Given the description of an element on the screen output the (x, y) to click on. 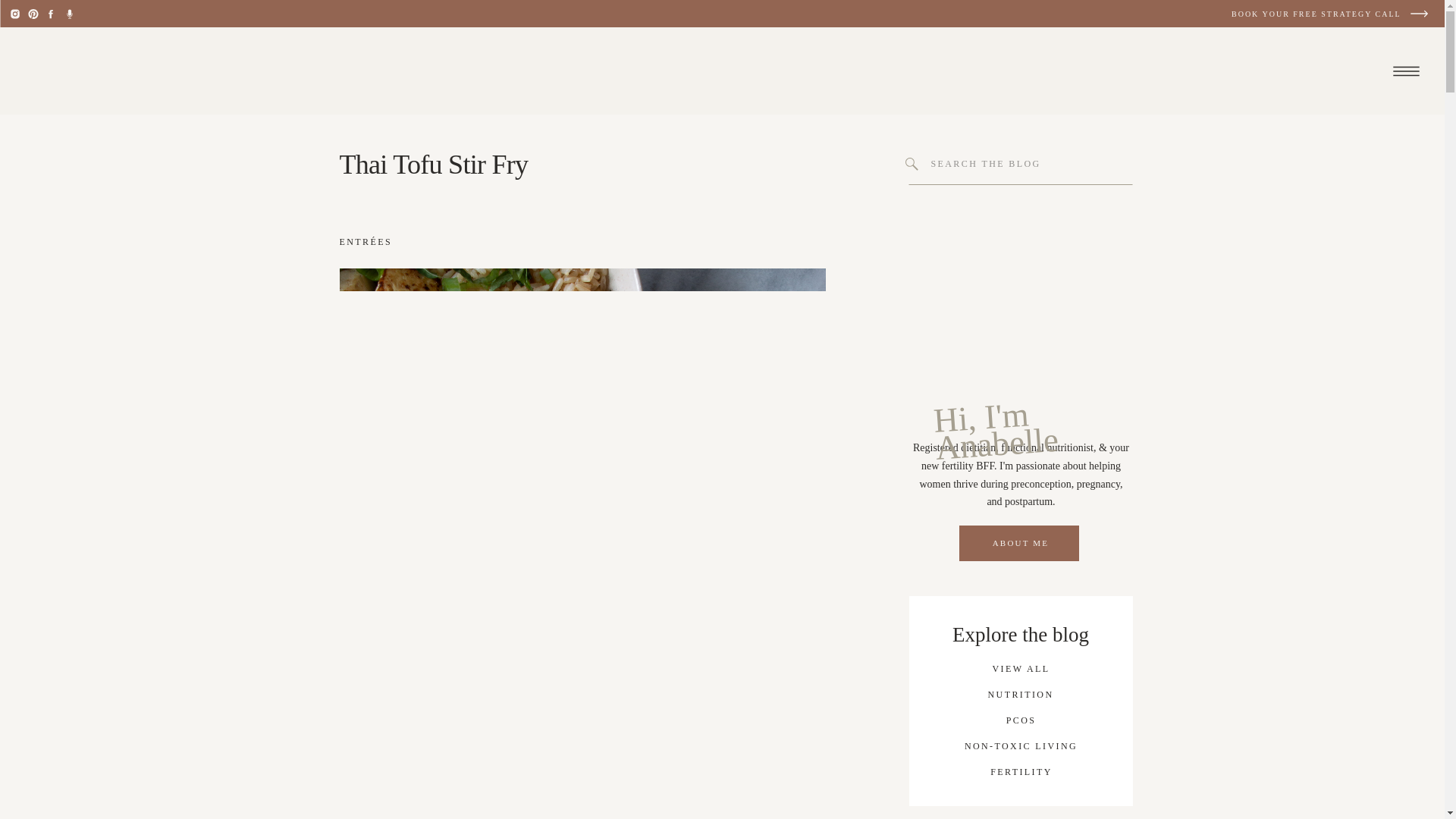
NON-TOXIC LIVING (1021, 745)
FERTILITY (1021, 771)
NUTRITION (1021, 694)
VIEW ALL (1020, 667)
PCOS (1021, 719)
ABOUT ME (1020, 543)
BOOK YOUR FREE STRATEGY CALL (1330, 13)
